Given the description of an element on the screen output the (x, y) to click on. 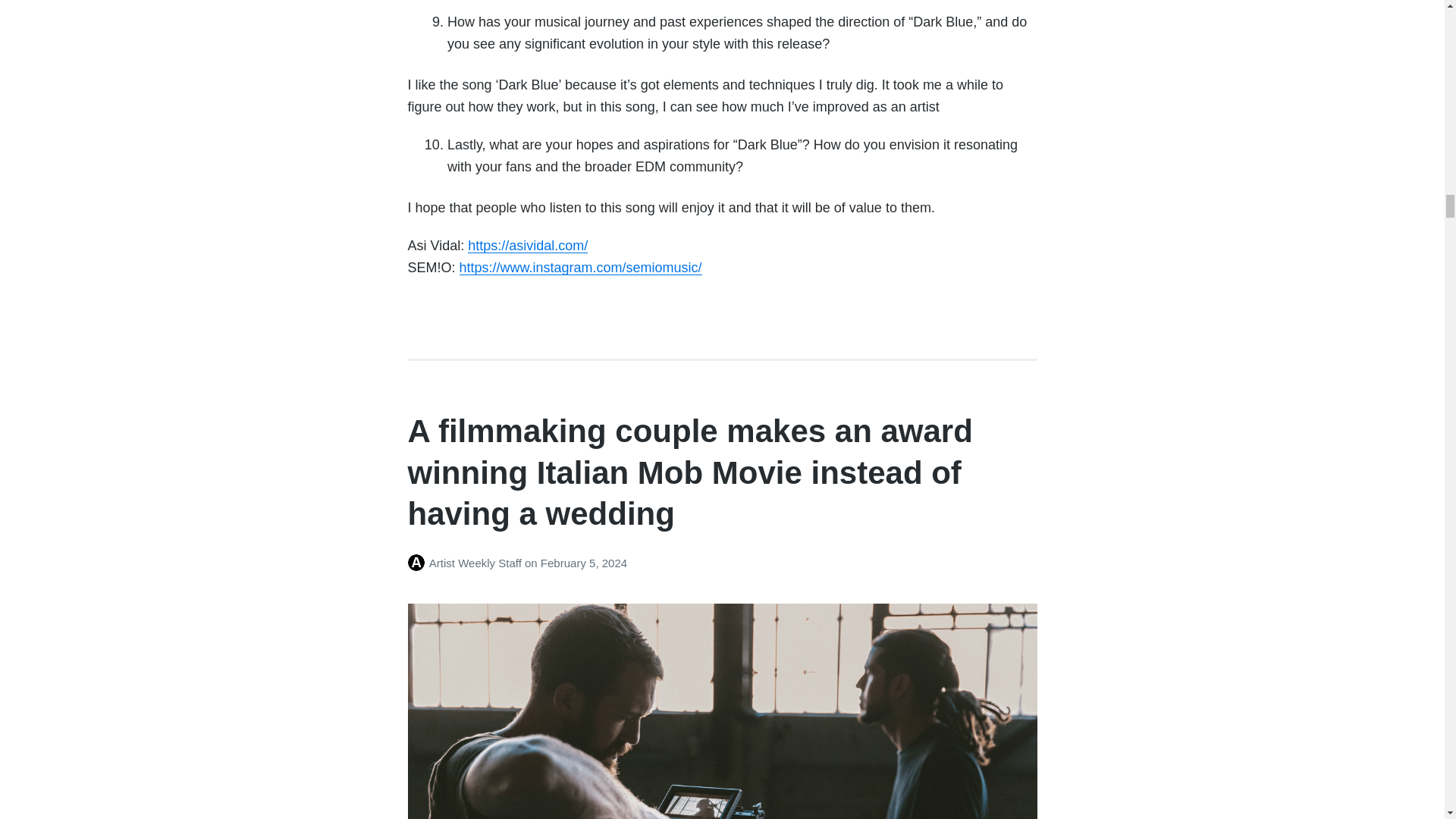
Posts by Artist Weekly Staff (418, 562)
